Given the description of an element on the screen output the (x, y) to click on. 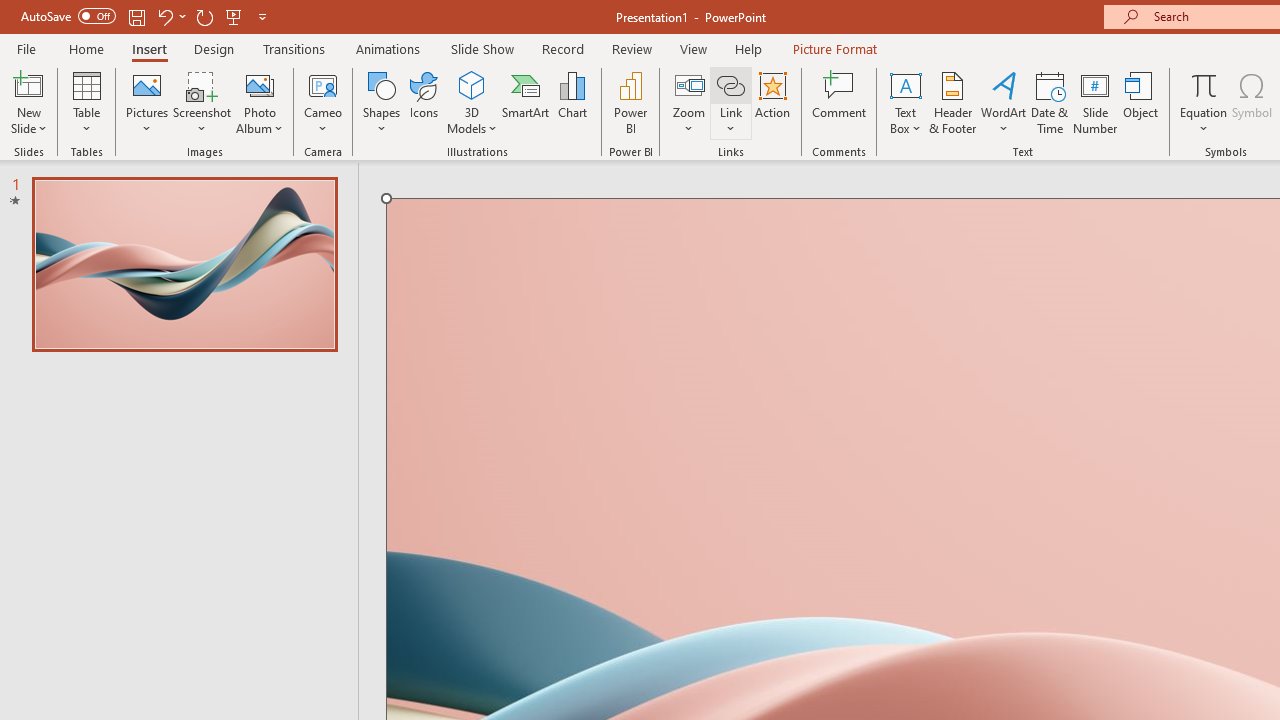
Picture Format (834, 48)
Symbol... (1252, 102)
Screenshot (202, 102)
Power BI (630, 102)
Object... (1141, 102)
Link (731, 84)
Table (86, 102)
SmartArt... (525, 102)
3D Models (472, 102)
